Given the description of an element on the screen output the (x, y) to click on. 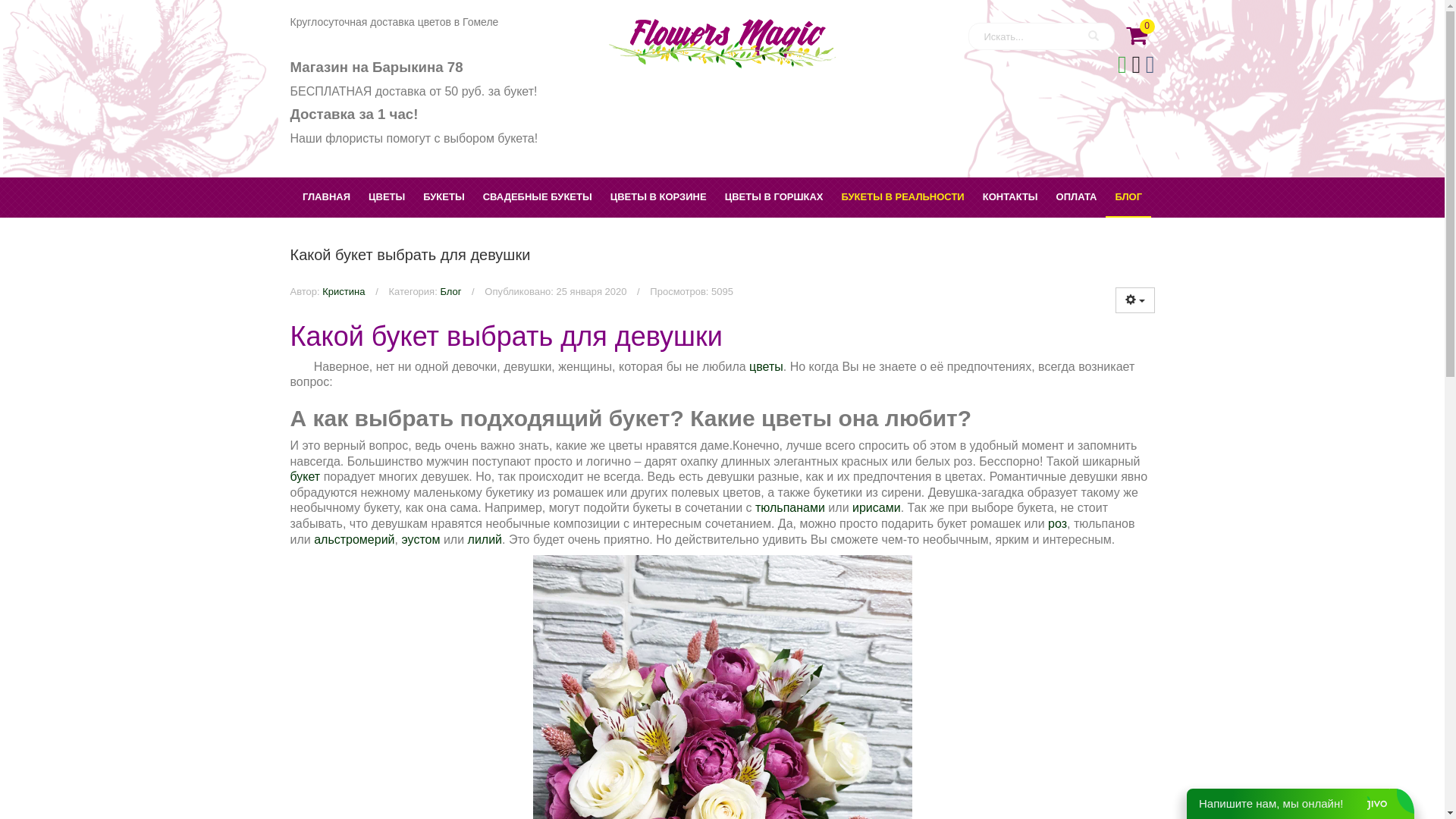
0 Element type: text (1134, 31)
